Given the description of an element on the screen output the (x, y) to click on. 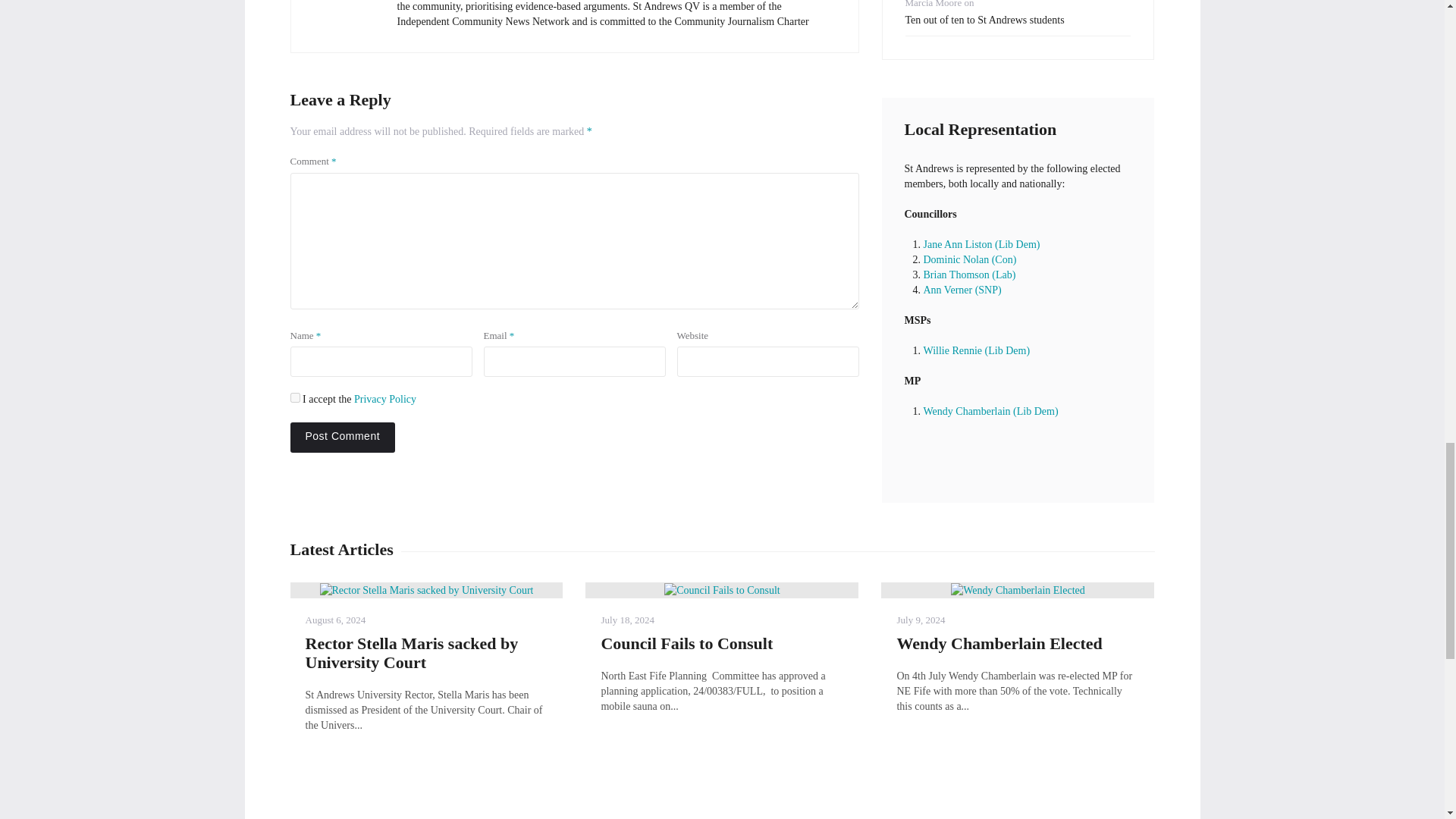
Privacy Policy (384, 398)
1 (294, 397)
Post Comment (341, 437)
Post Comment (341, 437)
